Given the description of an element on the screen output the (x, y) to click on. 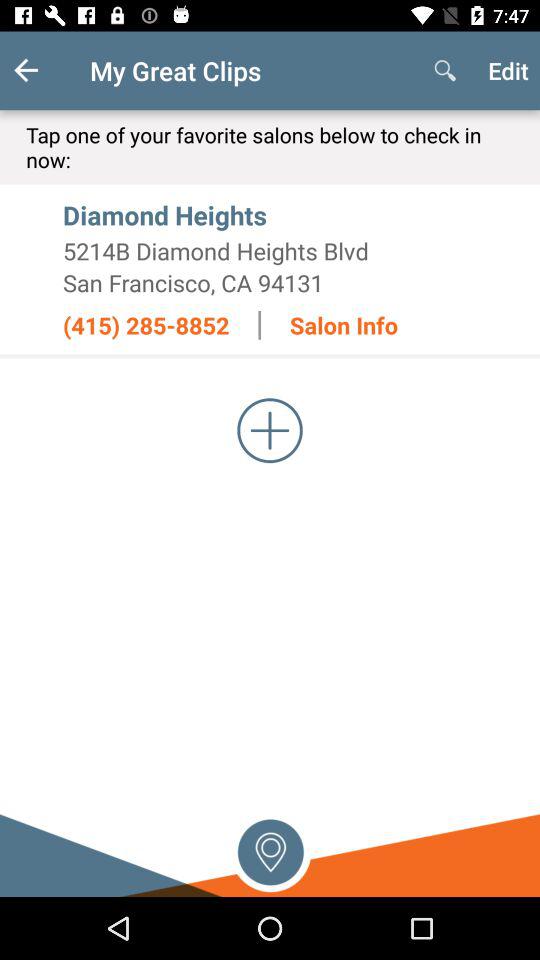
add button (270, 430)
